Given the description of an element on the screen output the (x, y) to click on. 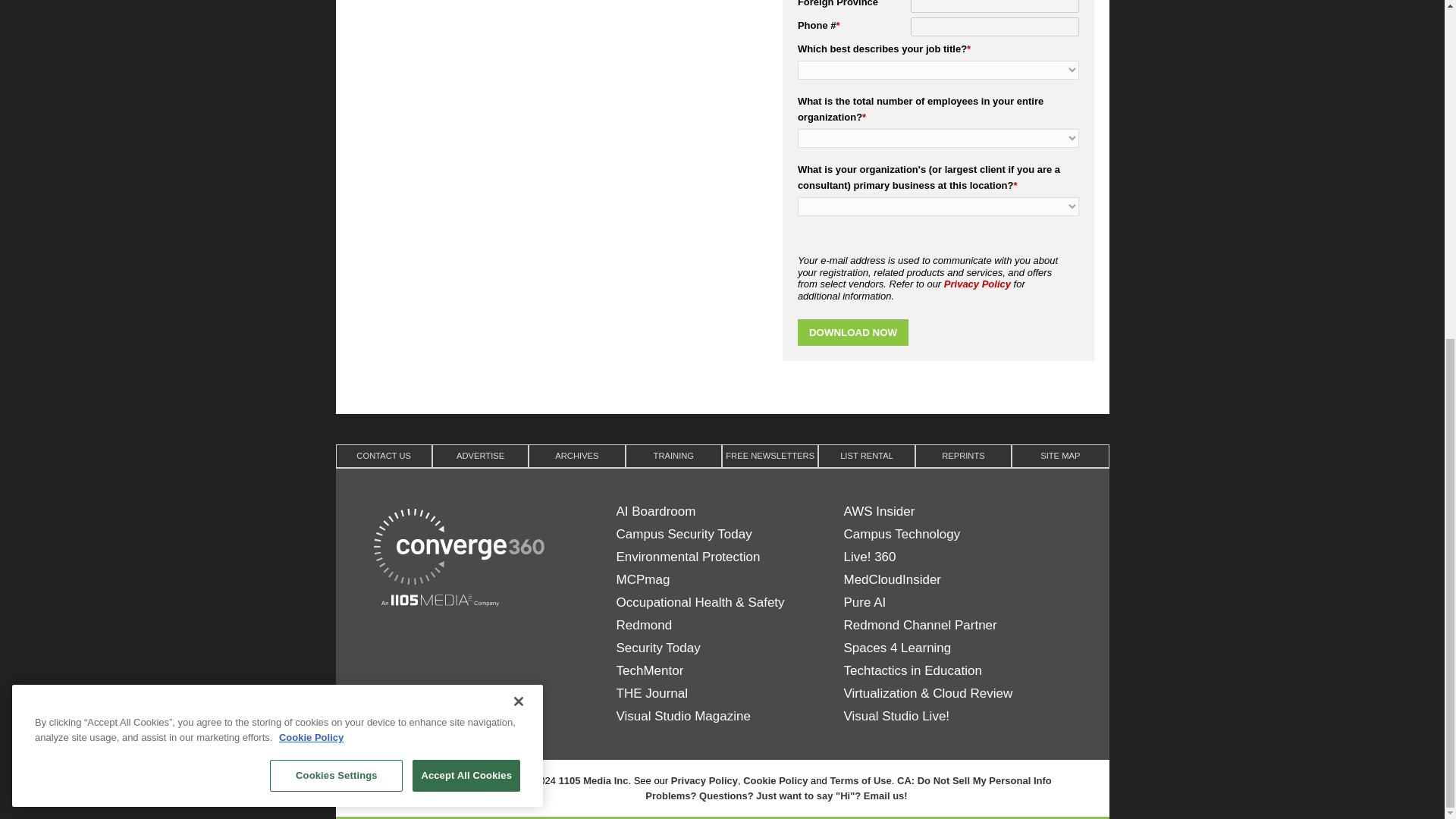
TRAINING (674, 455)
Download Now (852, 332)
FREE NEWSLETTERS (770, 455)
CONTACT US (382, 455)
Privacy Policy (976, 283)
LIST RENTAL (866, 455)
ADVERTISE (480, 455)
Download Now (852, 332)
ARCHIVES (576, 455)
